Given the description of an element on the screen output the (x, y) to click on. 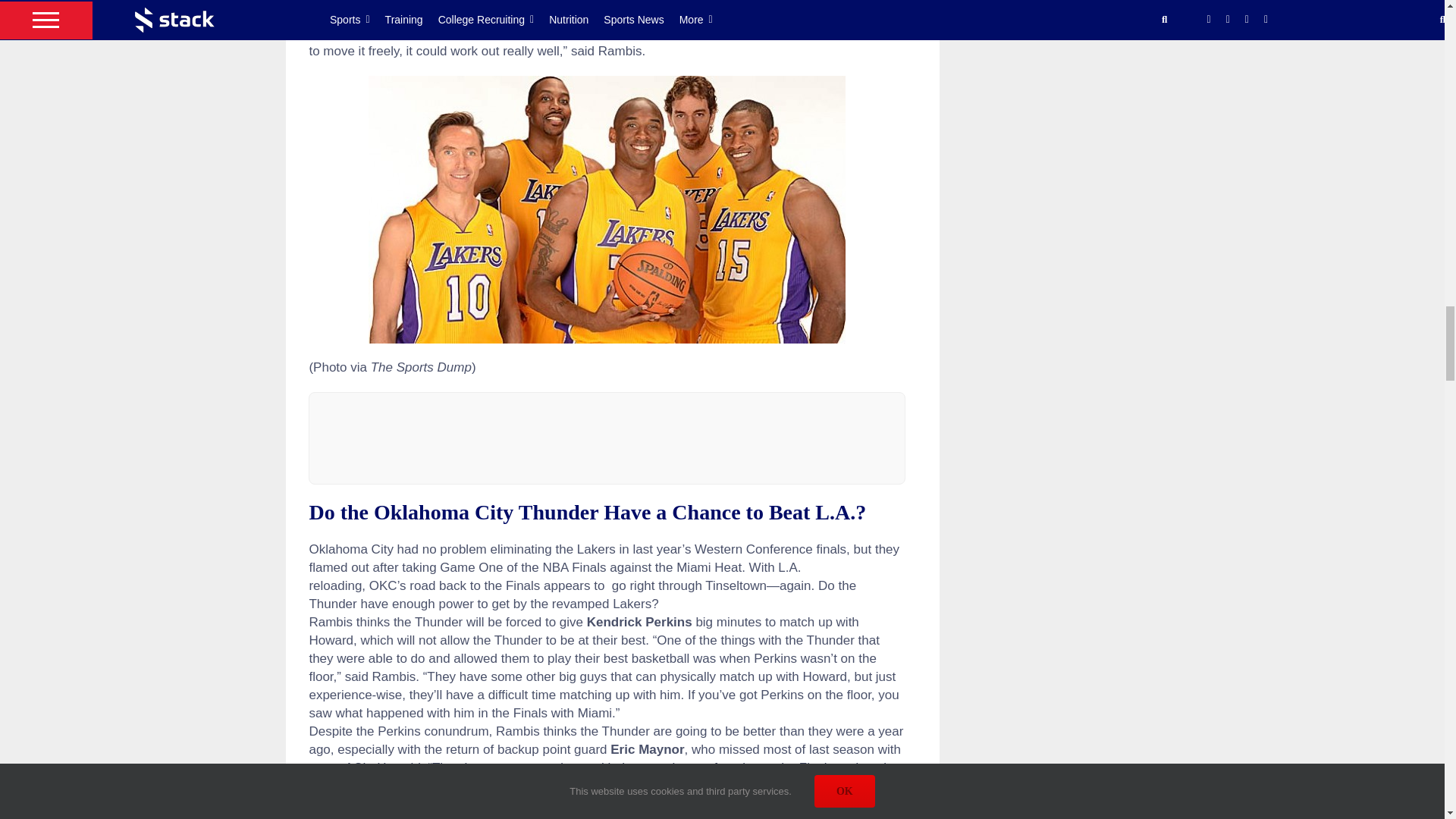
Los Angeles Lakers - STACK (606, 209)
